Given the description of an element on the screen output the (x, y) to click on. 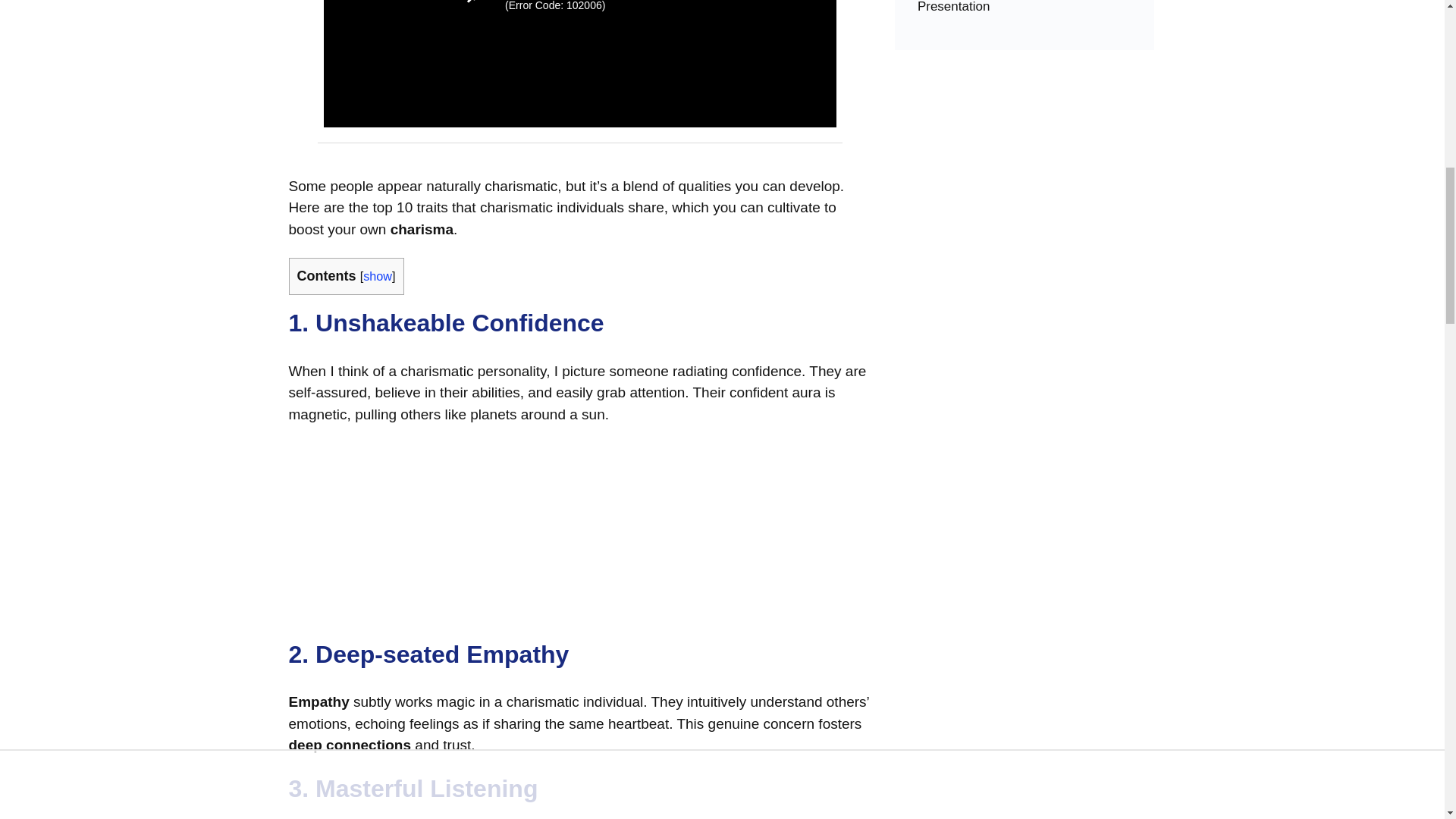
11 Tips to Analyze Your Speech or Presentation (1024, 13)
show (376, 275)
